Given the description of an element on the screen output the (x, y) to click on. 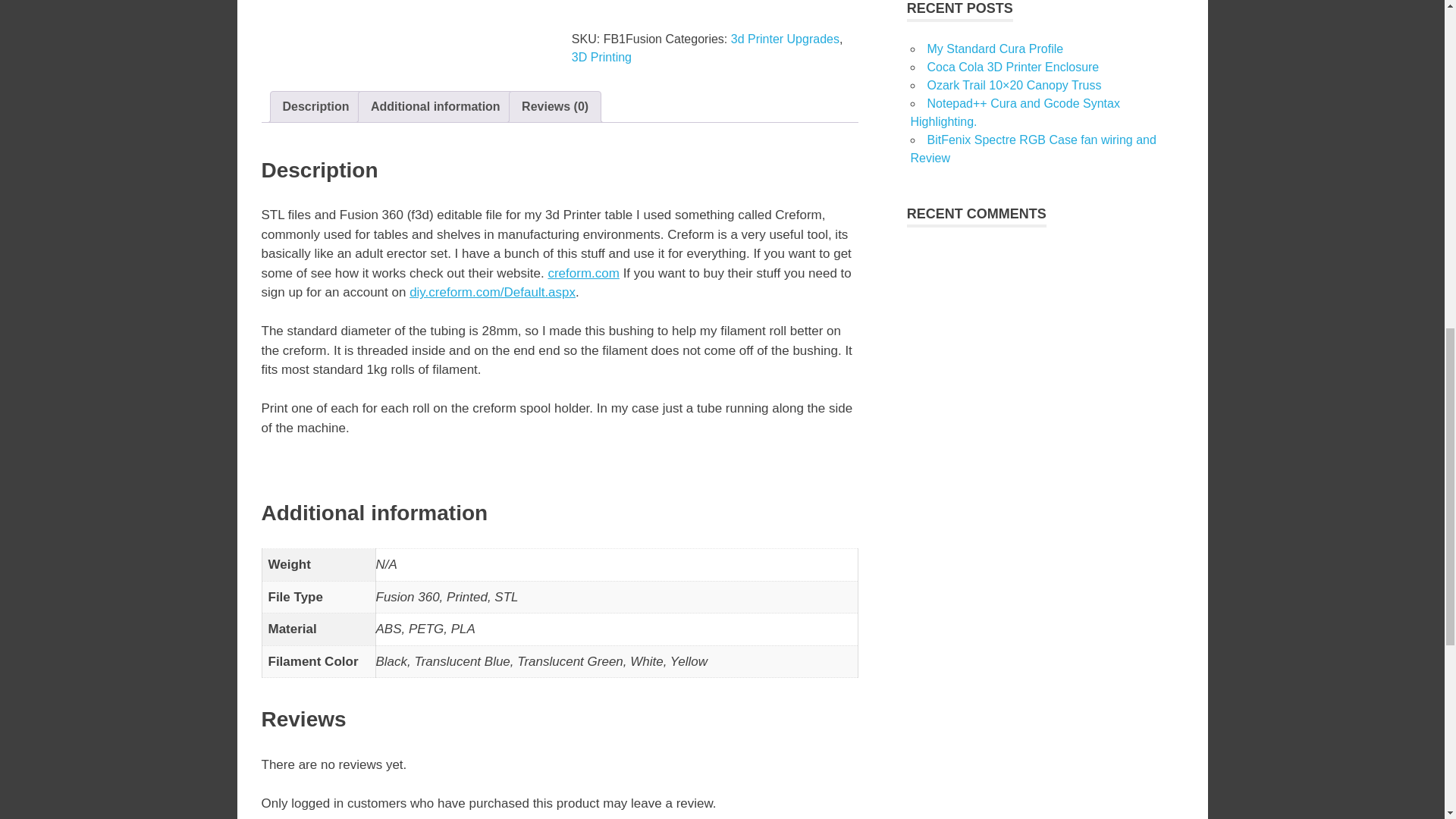
3D Printing (601, 56)
Additional information (435, 106)
Description (315, 106)
3d Printer Upgrades (785, 38)
